Given the description of an element on the screen output the (x, y) to click on. 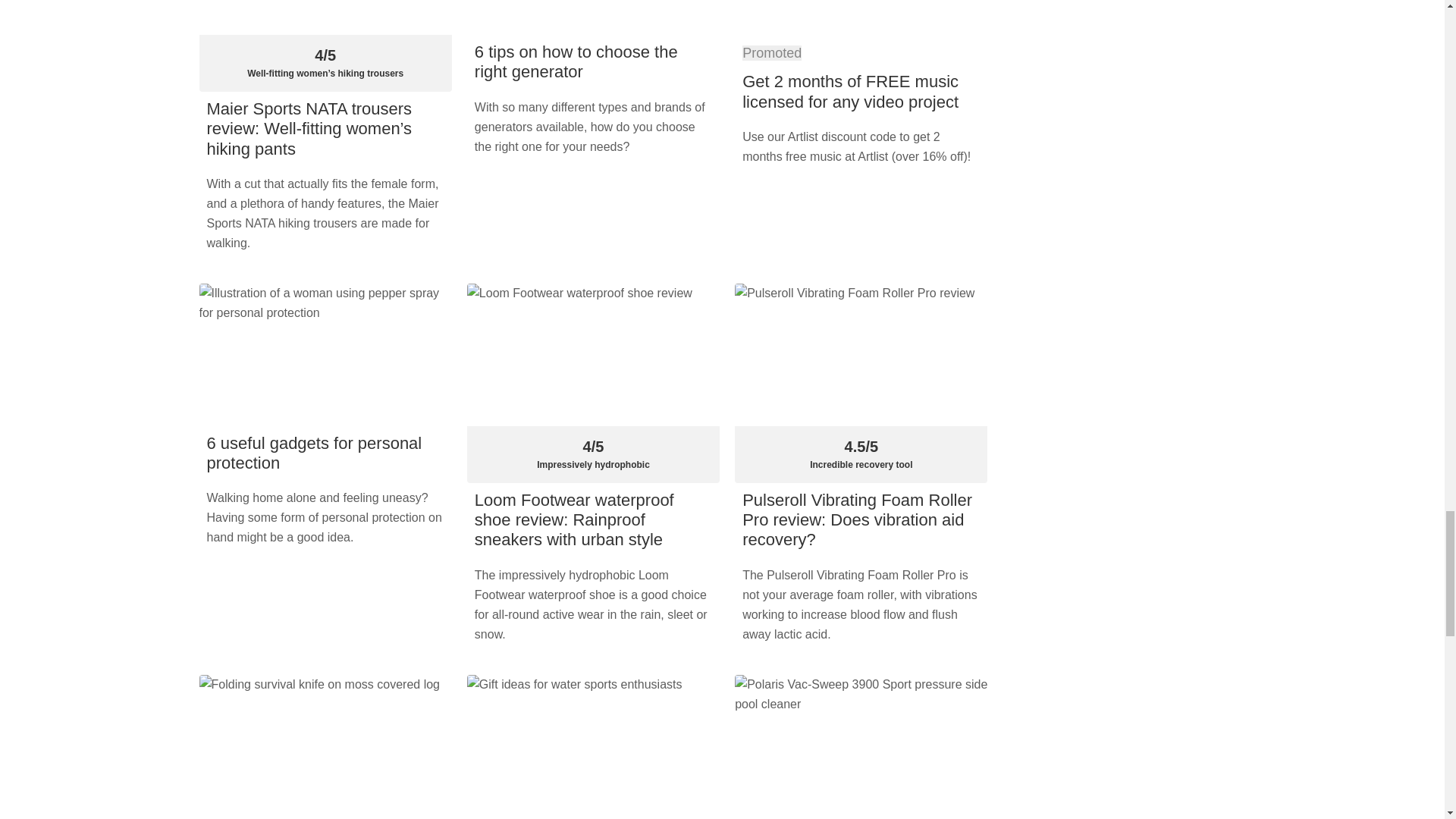
Promoted (772, 52)
6 tips on how to choose the right generator (576, 61)
Get 2 months of FREE music licensed for any video project (850, 91)
